Given the description of an element on the screen output the (x, y) to click on. 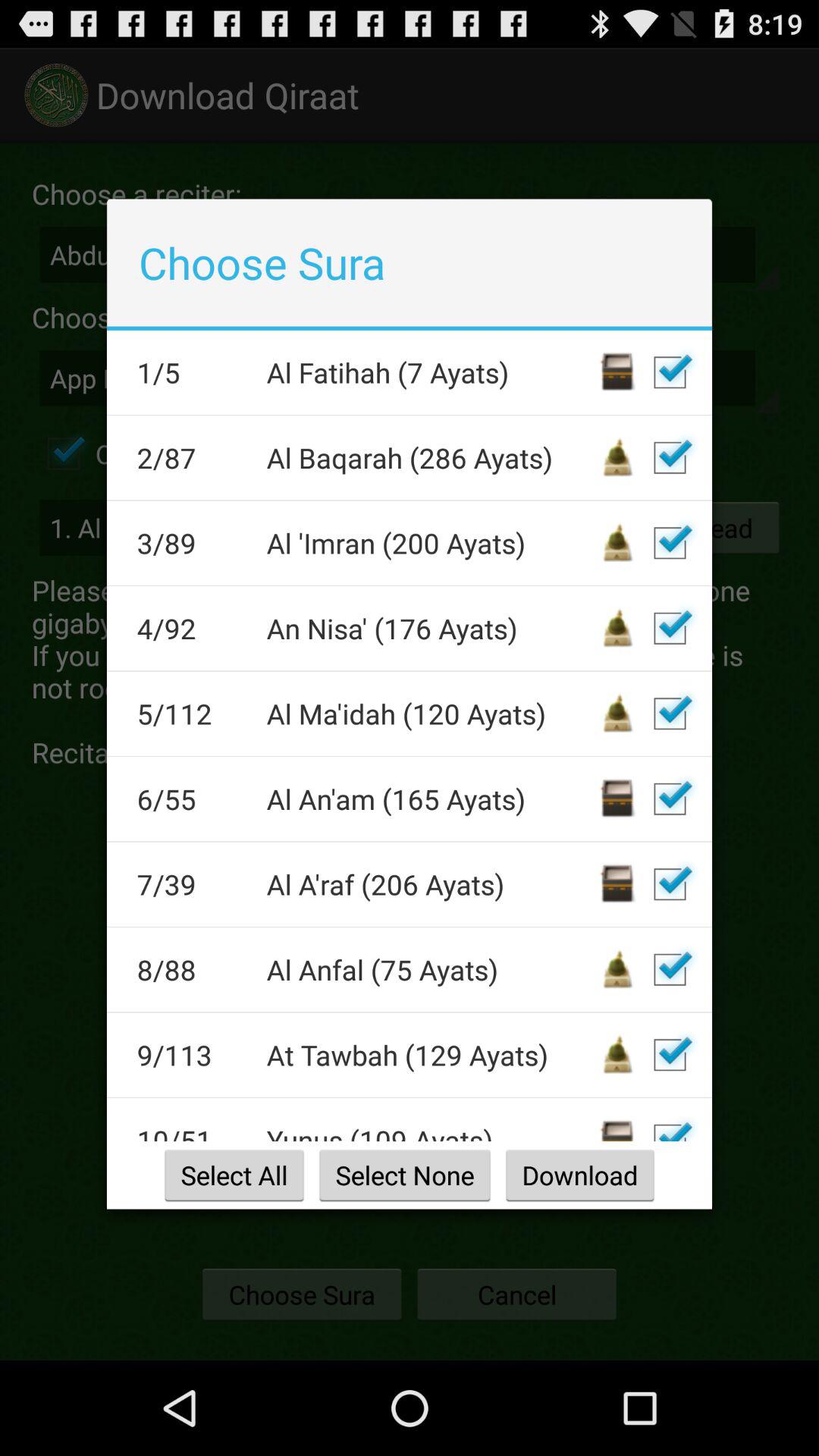
check or uncheck sura (669, 798)
